Given the description of an element on the screen output the (x, y) to click on. 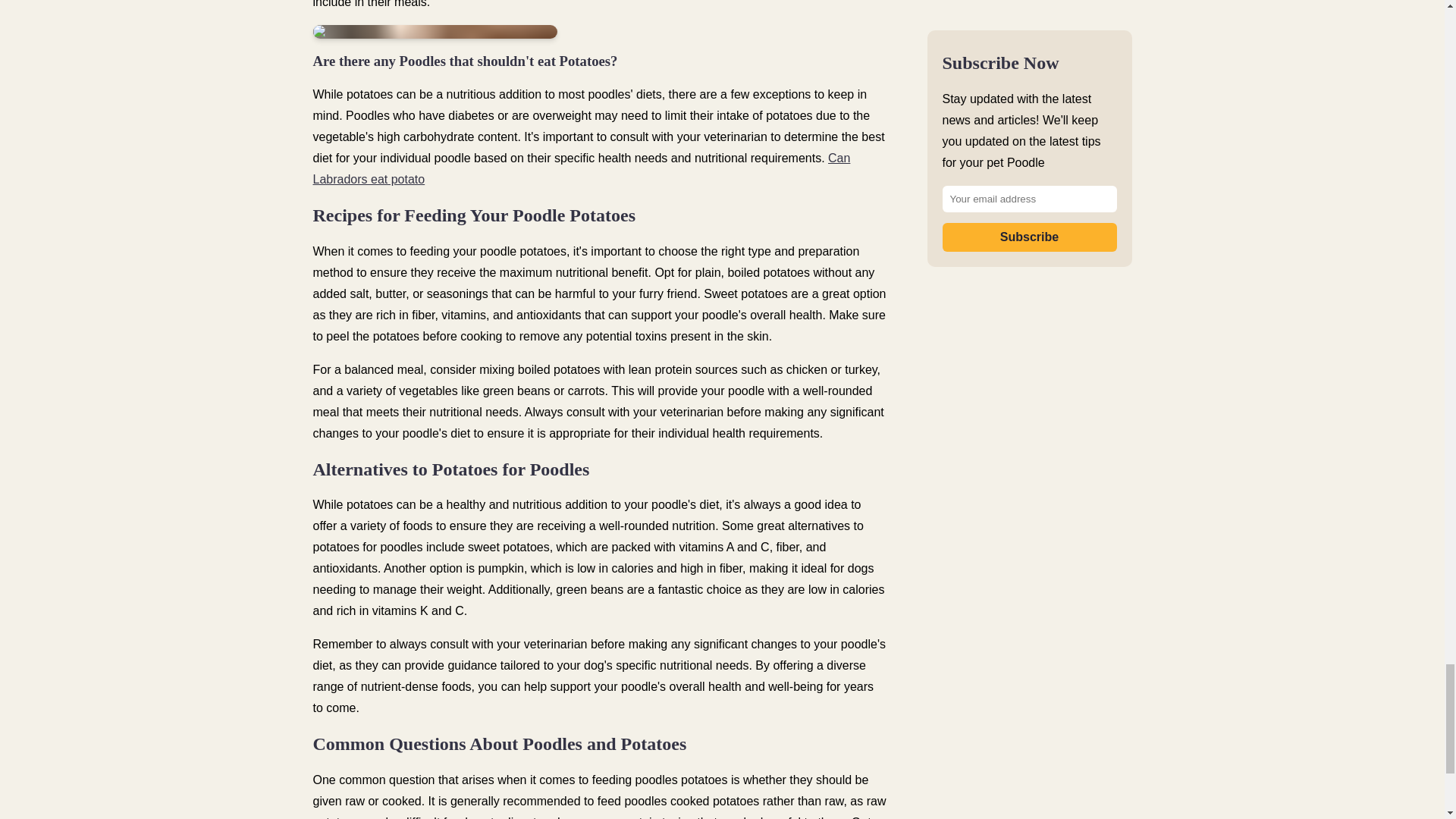
Can Labradors eat potato (581, 168)
Photograph of a Cute Poodle Eating Potato (435, 31)
can labradors eat potato (581, 168)
